Given the description of an element on the screen output the (x, y) to click on. 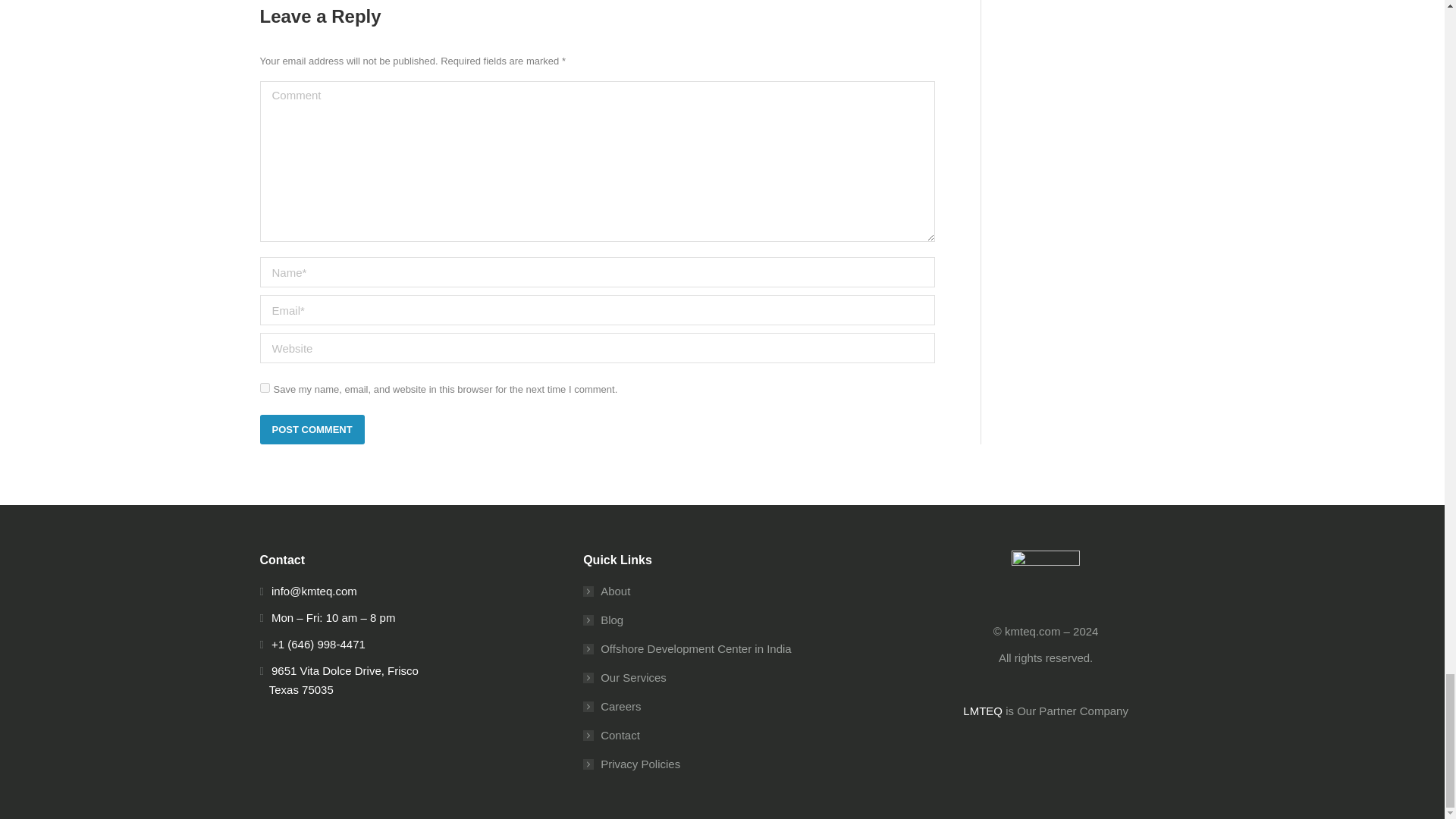
yes (264, 388)
